Given the description of an element on the screen output the (x, y) to click on. 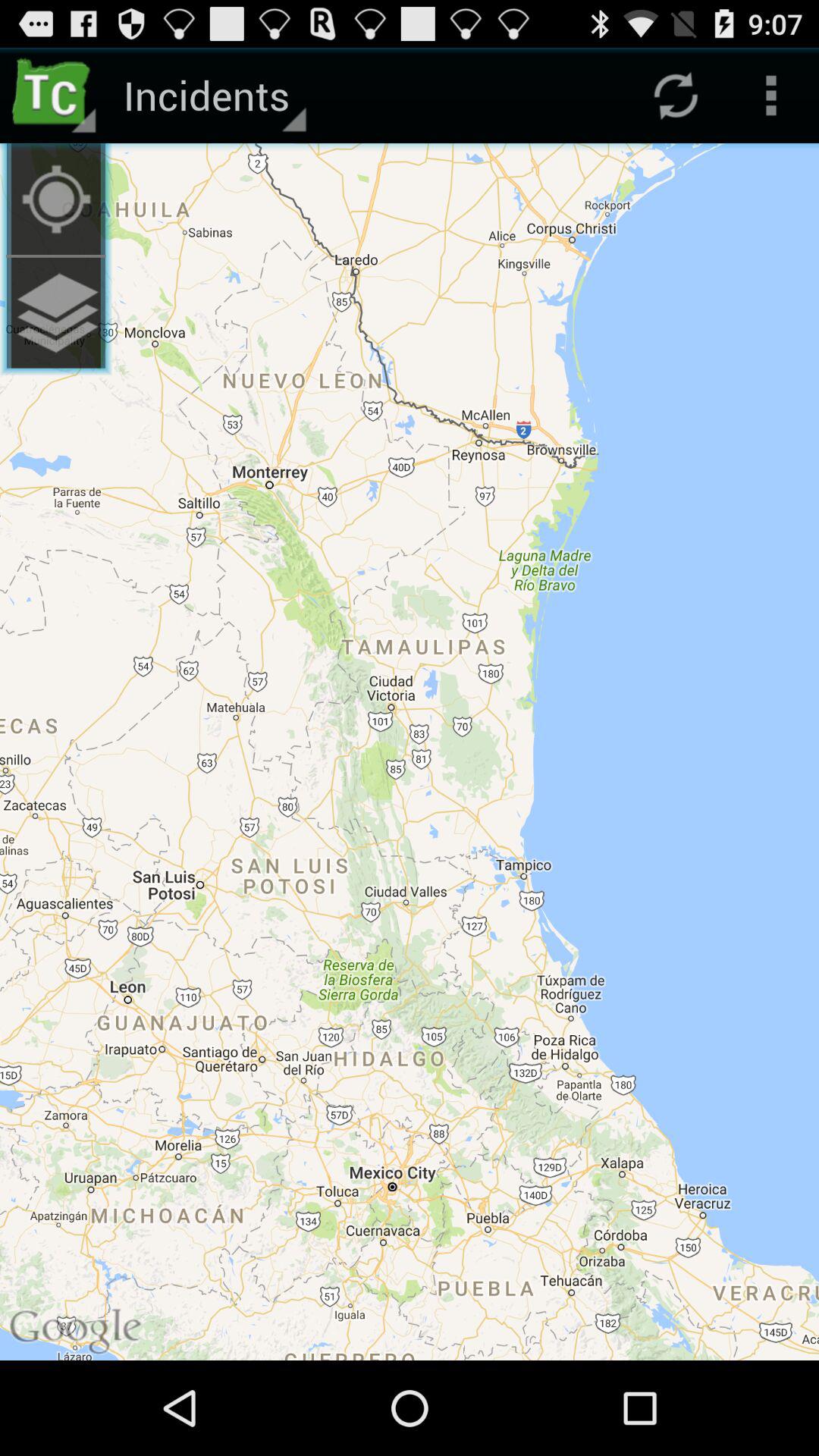
select item to the left of incidents app (55, 198)
